Given the description of an element on the screen output the (x, y) to click on. 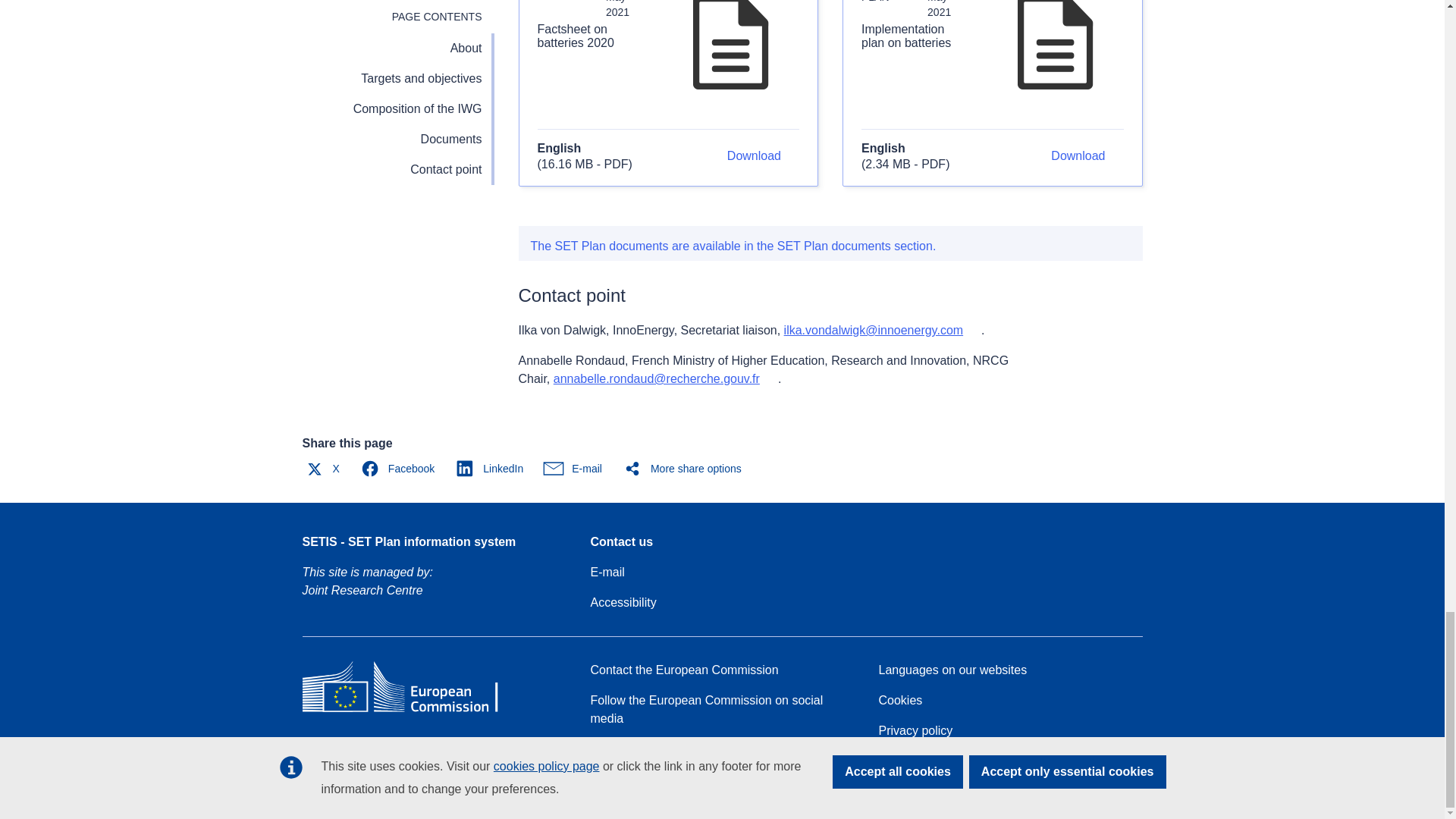
European Commission (411, 711)
